Given the description of an element on the screen output the (x, y) to click on. 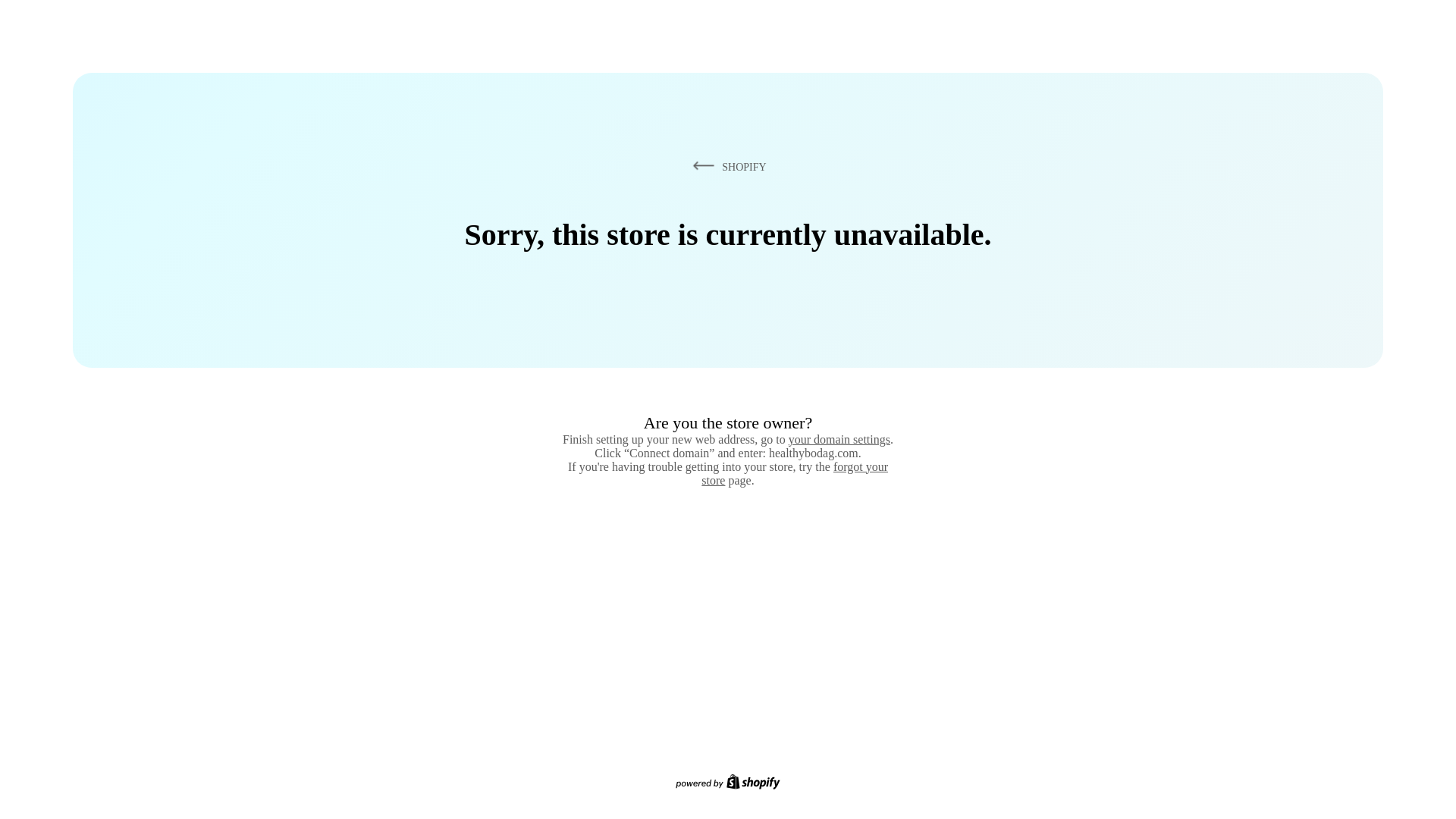
SHOPIFY (726, 166)
forgot your store (794, 473)
your domain settings (839, 439)
